Given the description of an element on the screen output the (x, y) to click on. 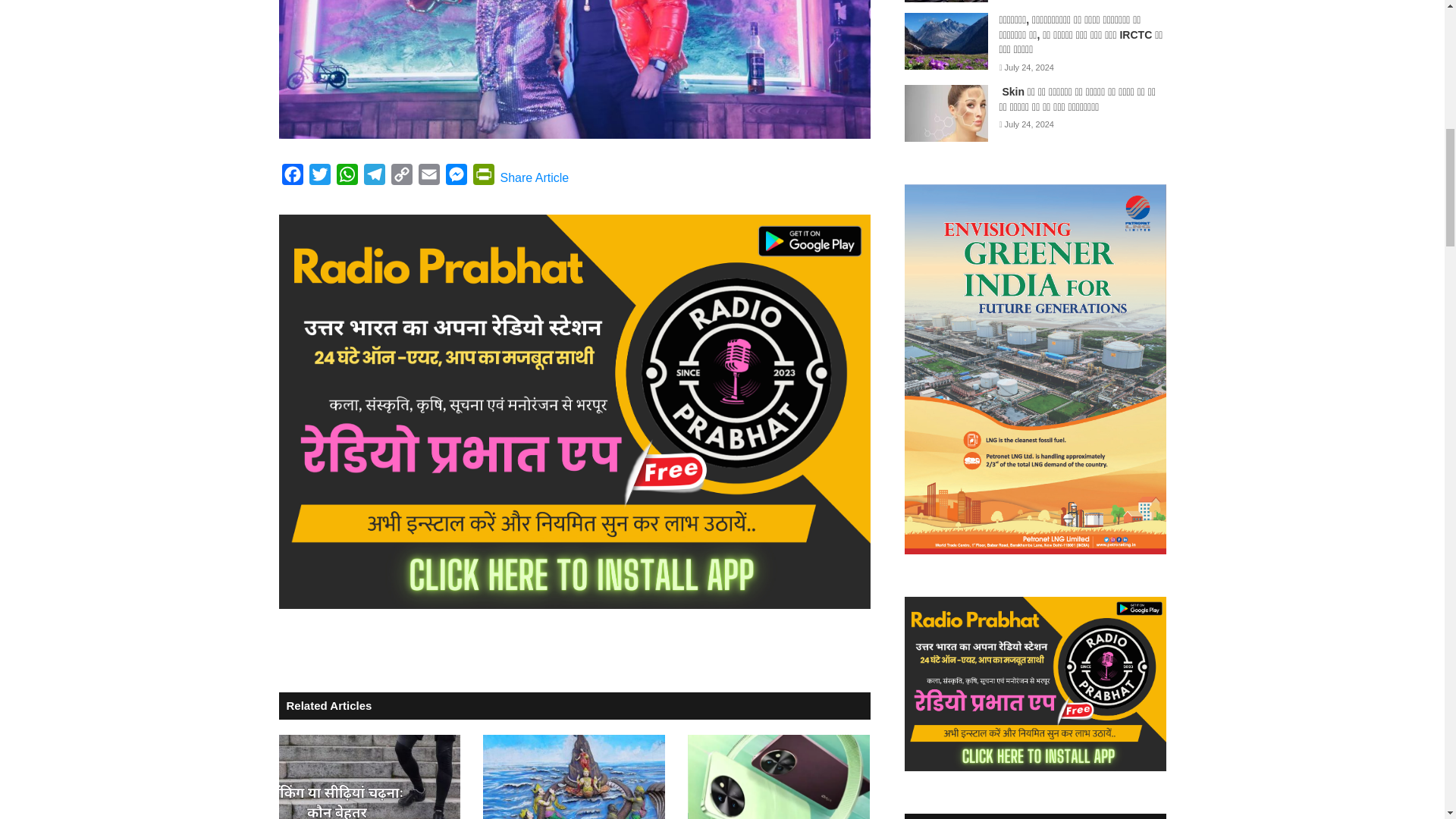
Telegram (374, 177)
WhatsApp (347, 177)
Twitter (319, 177)
Email (428, 177)
PrintFriendly (483, 177)
Facebook (292, 177)
Copy Link (401, 177)
Messenger (456, 177)
